Given the description of an element on the screen output the (x, y) to click on. 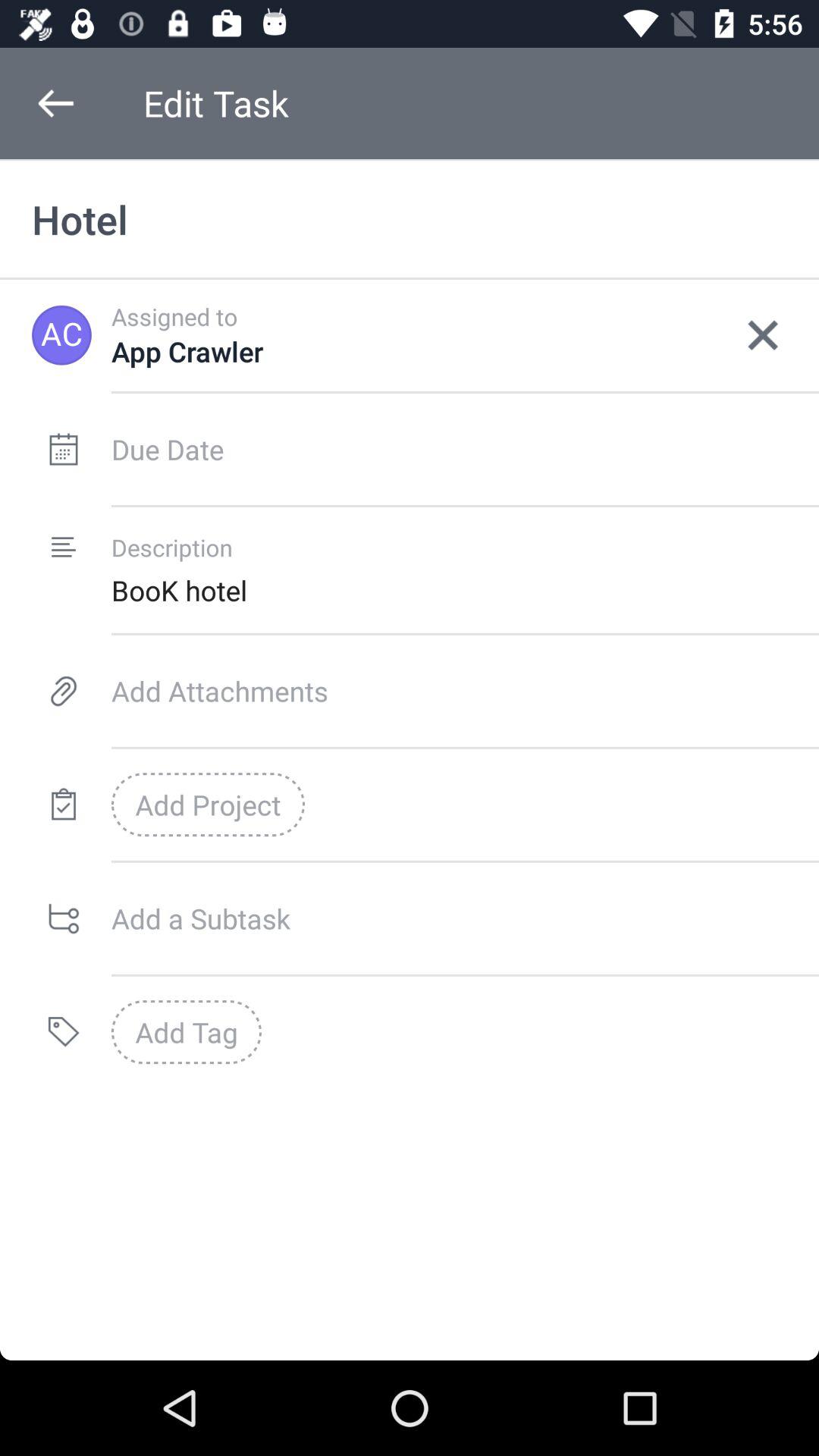
turn on icon next to the edit task icon (55, 103)
